Given the description of an element on the screen output the (x, y) to click on. 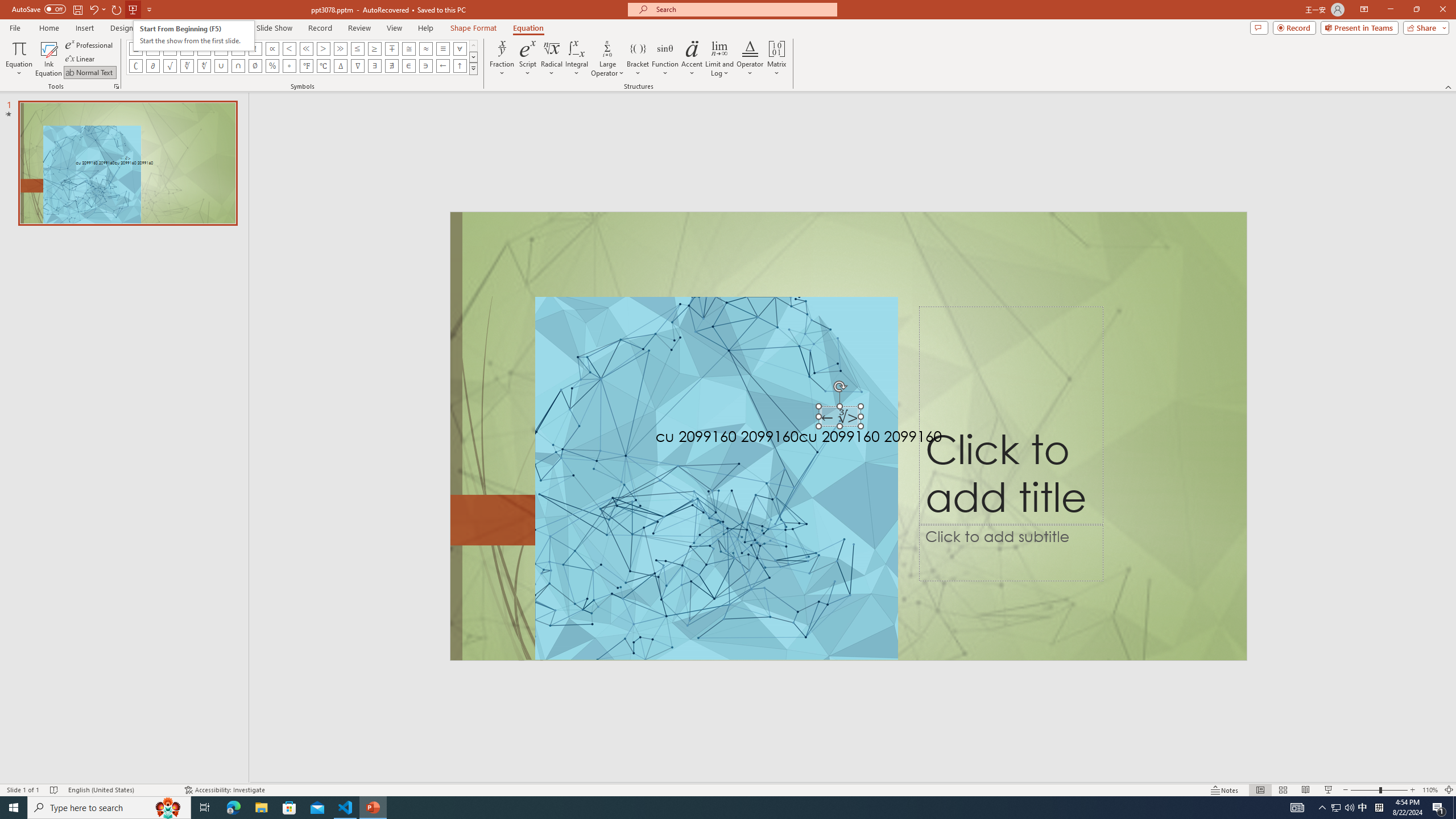
Ink Equation (48, 58)
Normal Text (90, 72)
Equation Symbol Approximately Equal To (408, 48)
Equation Symbol Nabla (357, 65)
Limit and Log (719, 58)
Equation Symbol Not Equal To (187, 48)
Equation Symbols (472, 68)
Zoom 110% (1430, 790)
